Given the description of an element on the screen output the (x, y) to click on. 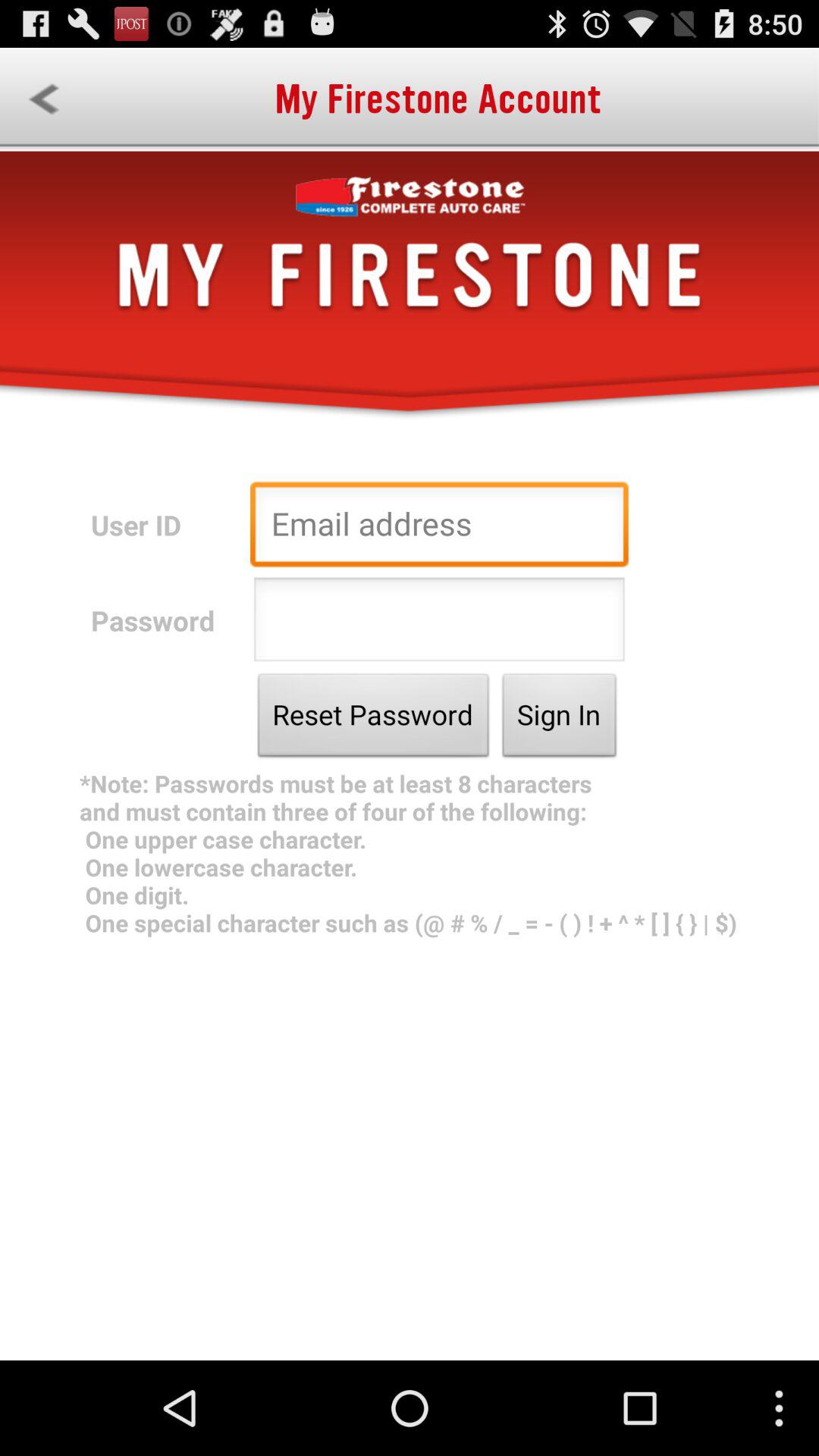
select app to the left of the my firestone account (43, 99)
